Given the description of an element on the screen output the (x, y) to click on. 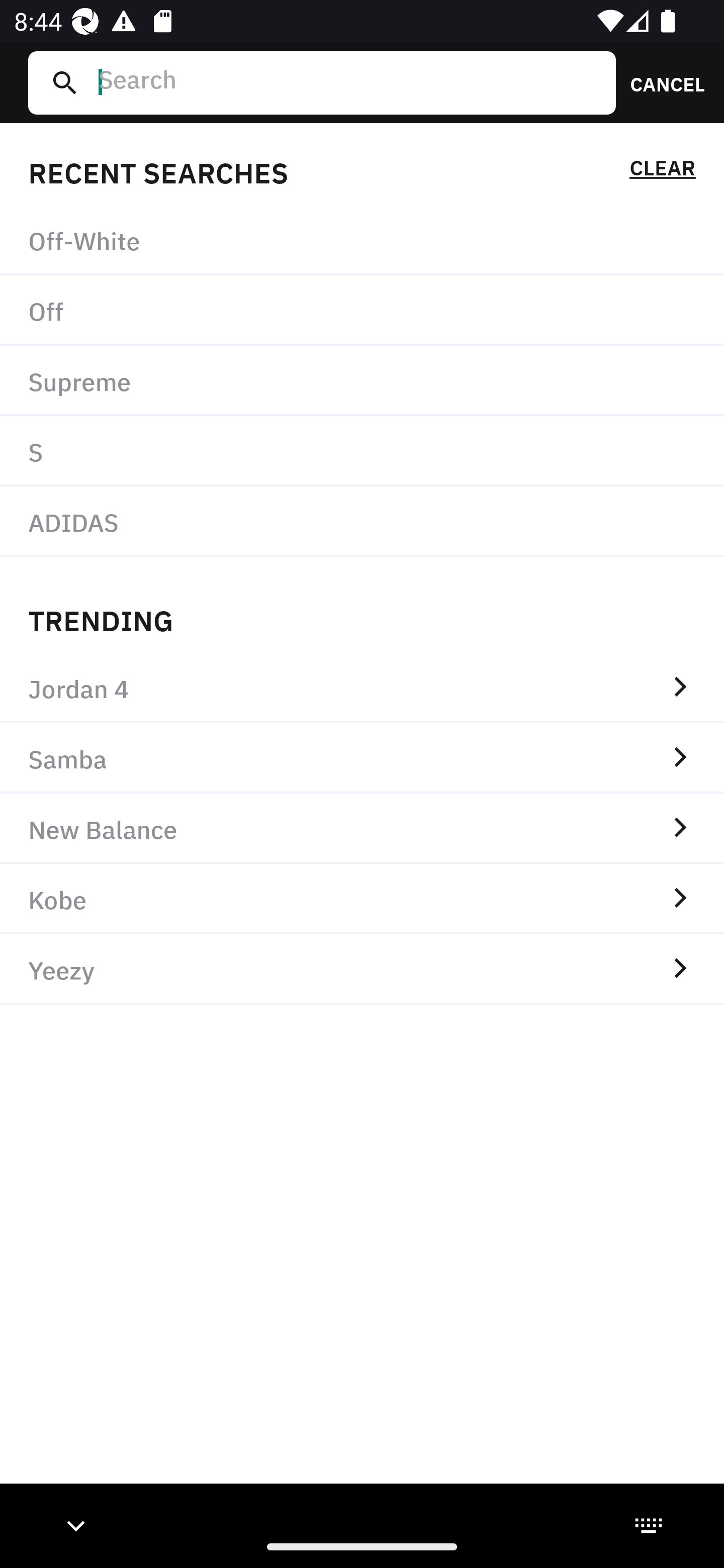
CANCEL (660, 82)
Search (349, 82)
CLEAR (662, 170)
Off-White (362, 240)
Off (362, 310)
Supreme (362, 380)
S (362, 450)
ADIDAS (362, 521)
Jordan 4  (362, 687)
Samba  (362, 757)
New Balance  (362, 828)
Kobe  (362, 898)
Yeezy  (362, 969)
